Given the description of an element on the screen output the (x, y) to click on. 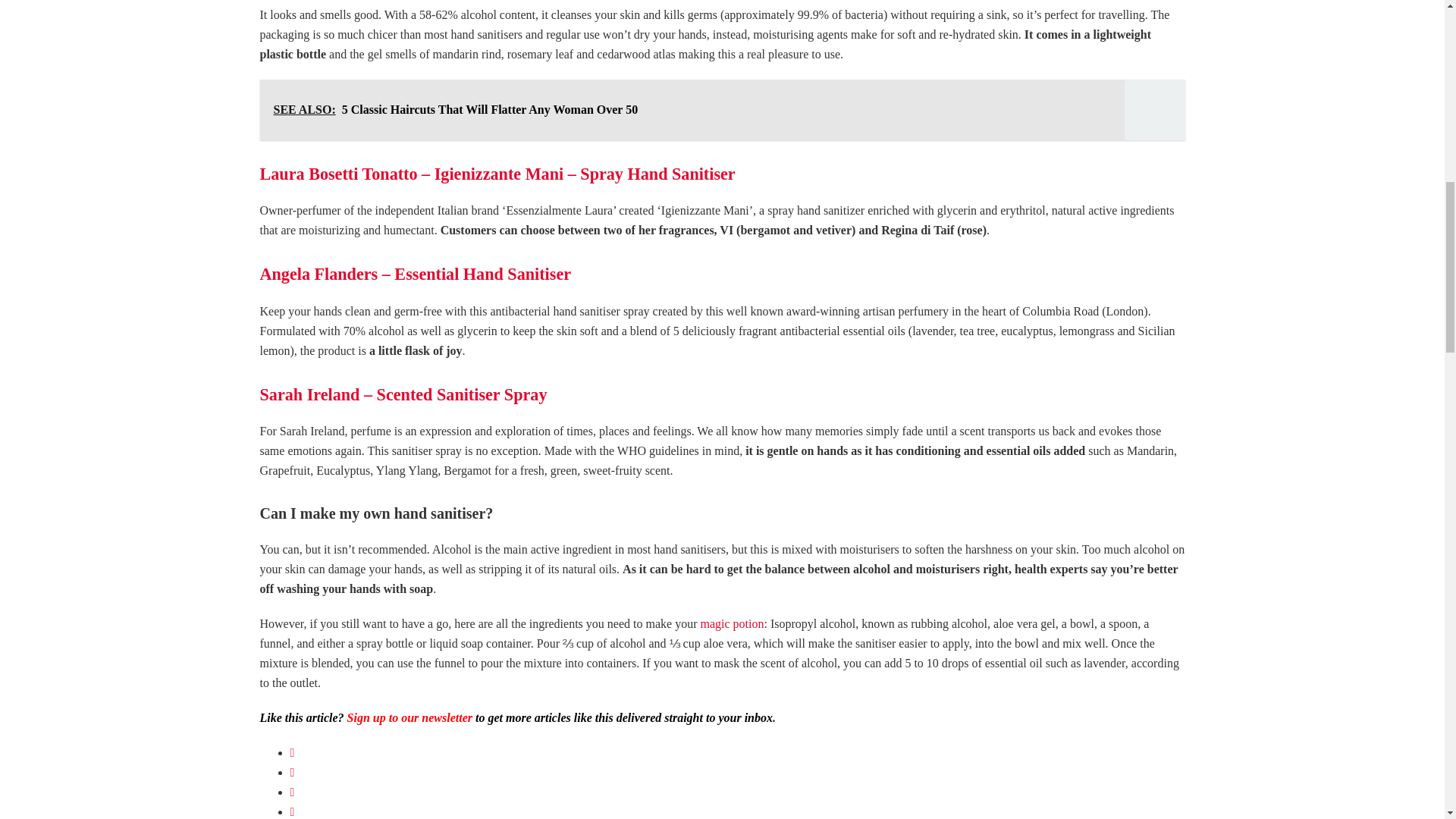
Sign up to our newsletter (409, 717)
magic potion (731, 623)
